Given the description of an element on the screen output the (x, y) to click on. 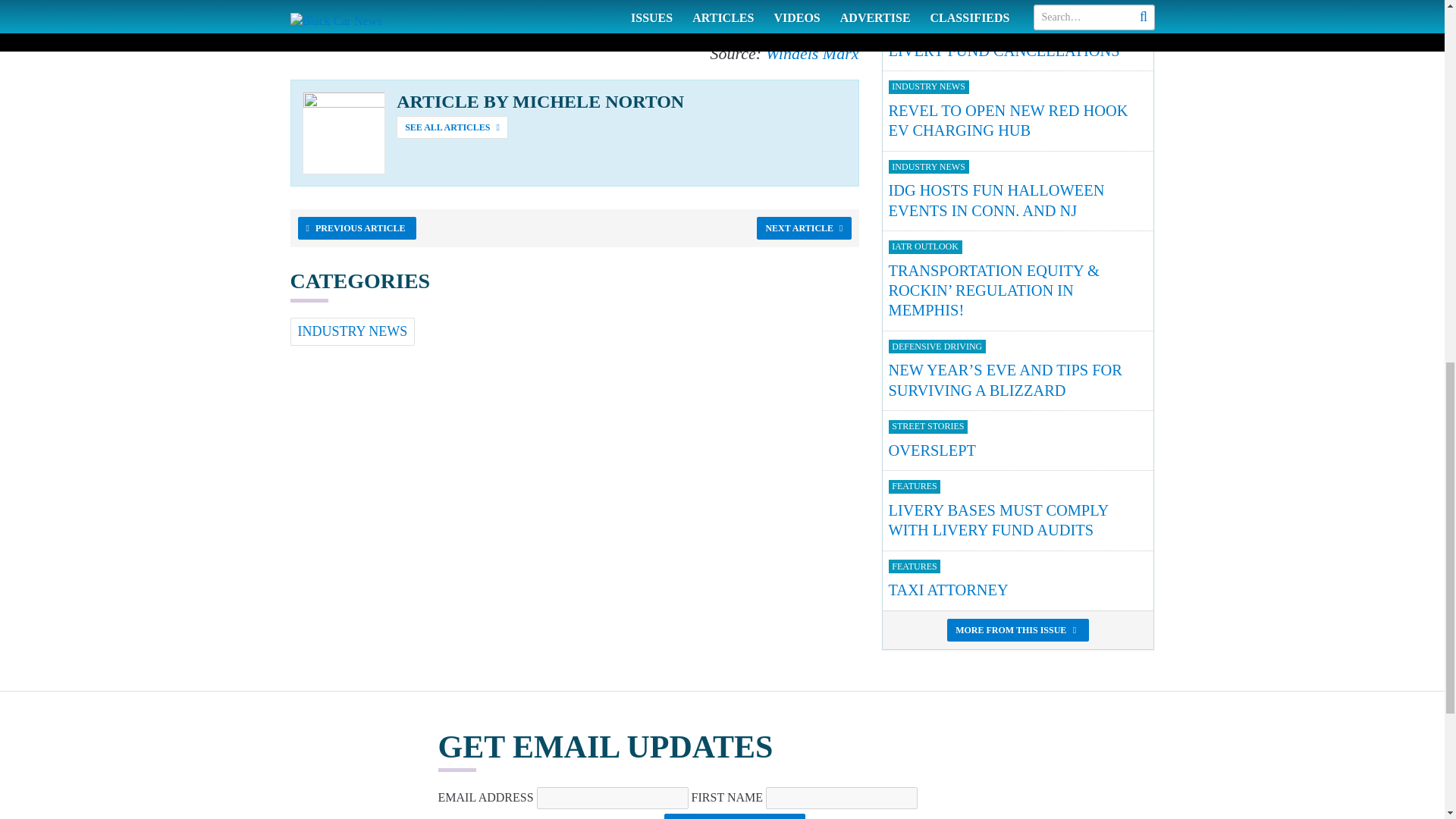
MORE FROM THIS ISSUE (1018, 509)
NEXT ARTICLE (1018, 630)
SUBSCRIBE NOW (1018, 440)
PREVIOUS ARTICLE (1018, 580)
